Given the description of an element on the screen output the (x, y) to click on. 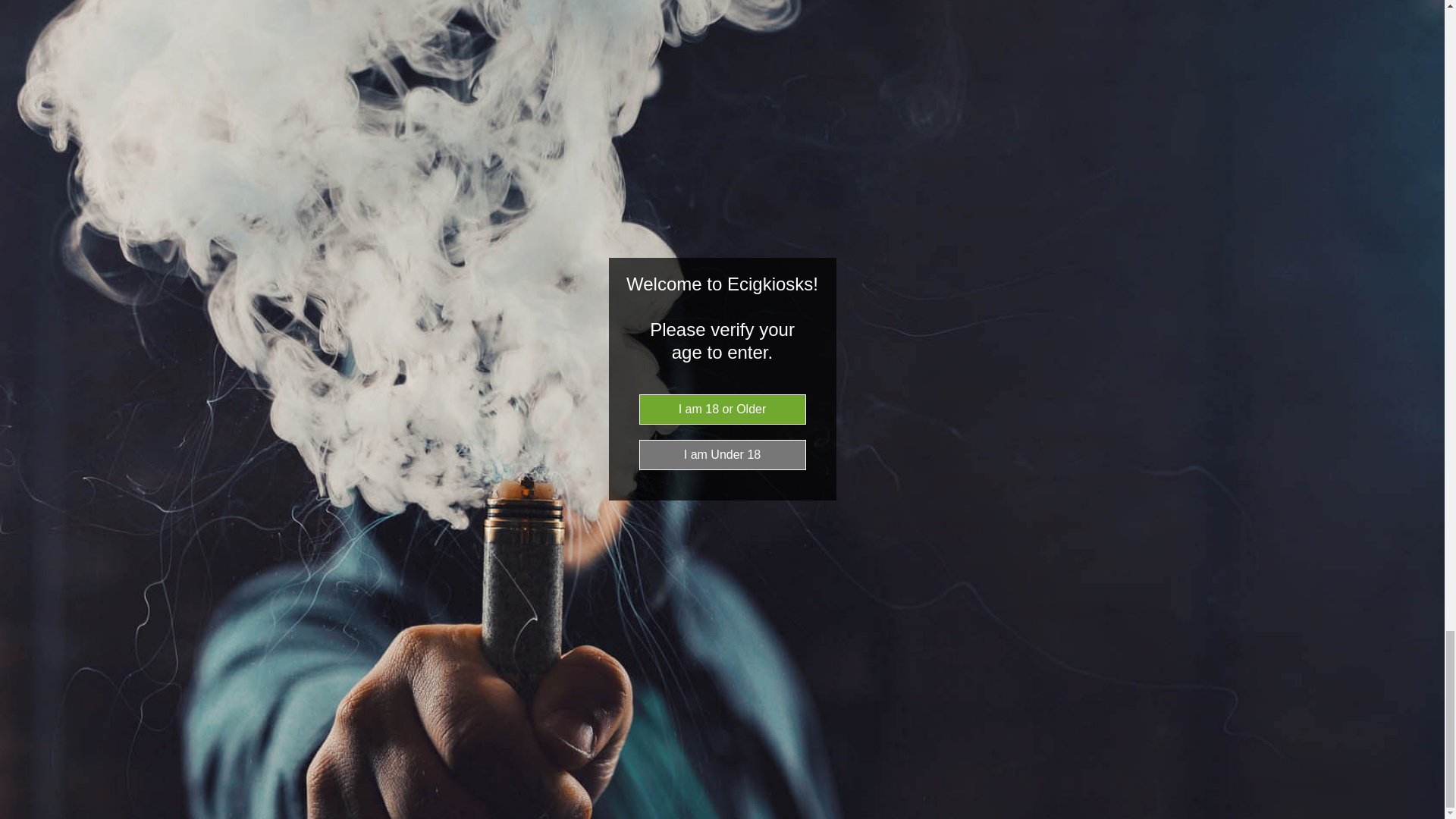
instagram (737, 644)
Review Form (721, 71)
facebook (703, 644)
facebook (703, 644)
instagram (737, 644)
General Enquiry Form (794, 423)
